Given the description of an element on the screen output the (x, y) to click on. 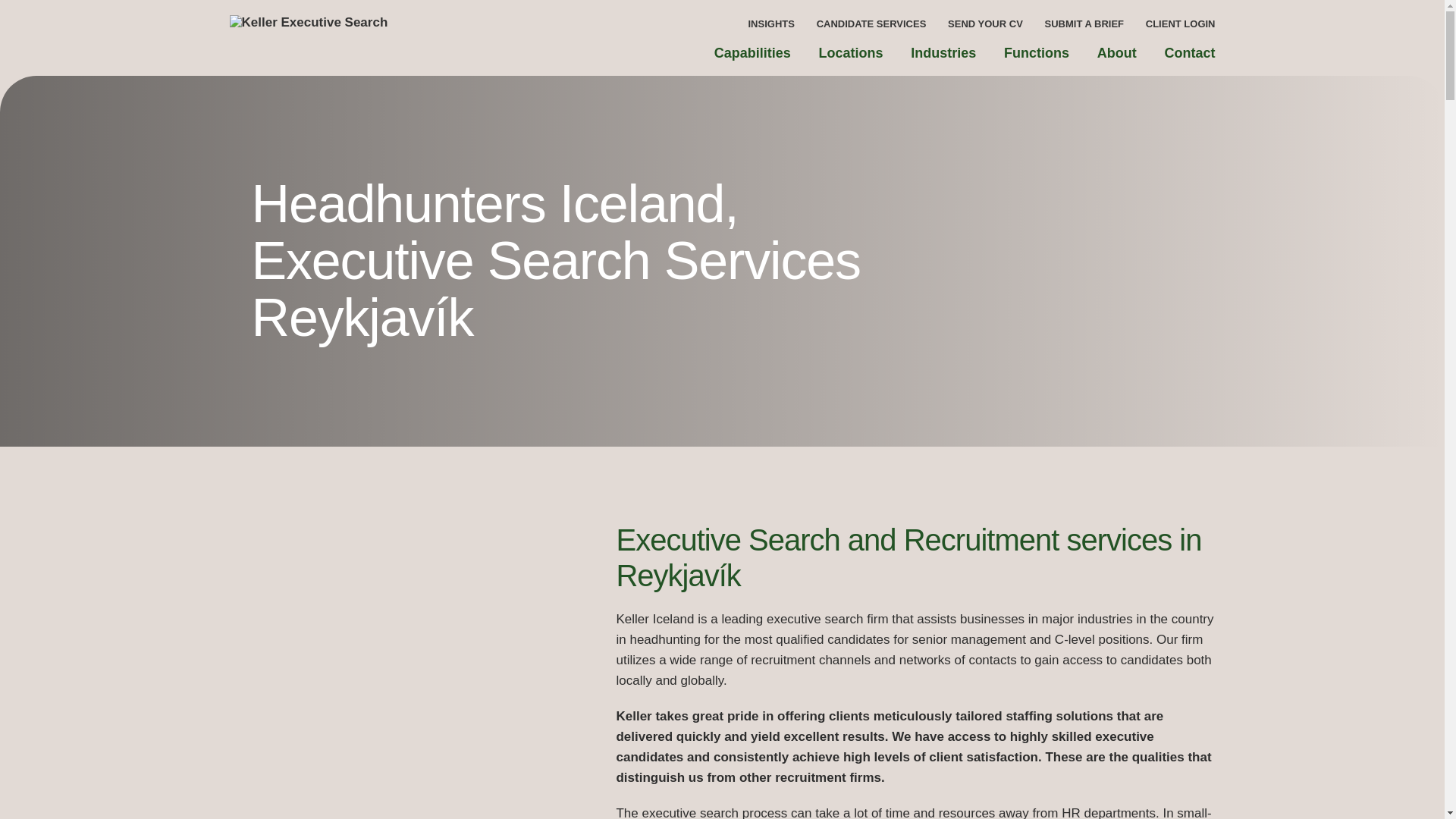
SEND YOUR CV (985, 25)
iceland-splash (387, 681)
INSIGHTS (770, 25)
CLIENT LOGIN (1180, 25)
Keller Executive Search (376, 34)
SUBMIT A BRIEF (1084, 25)
CANDIDATE SERVICES (871, 25)
